Given the description of an element on the screen output the (x, y) to click on. 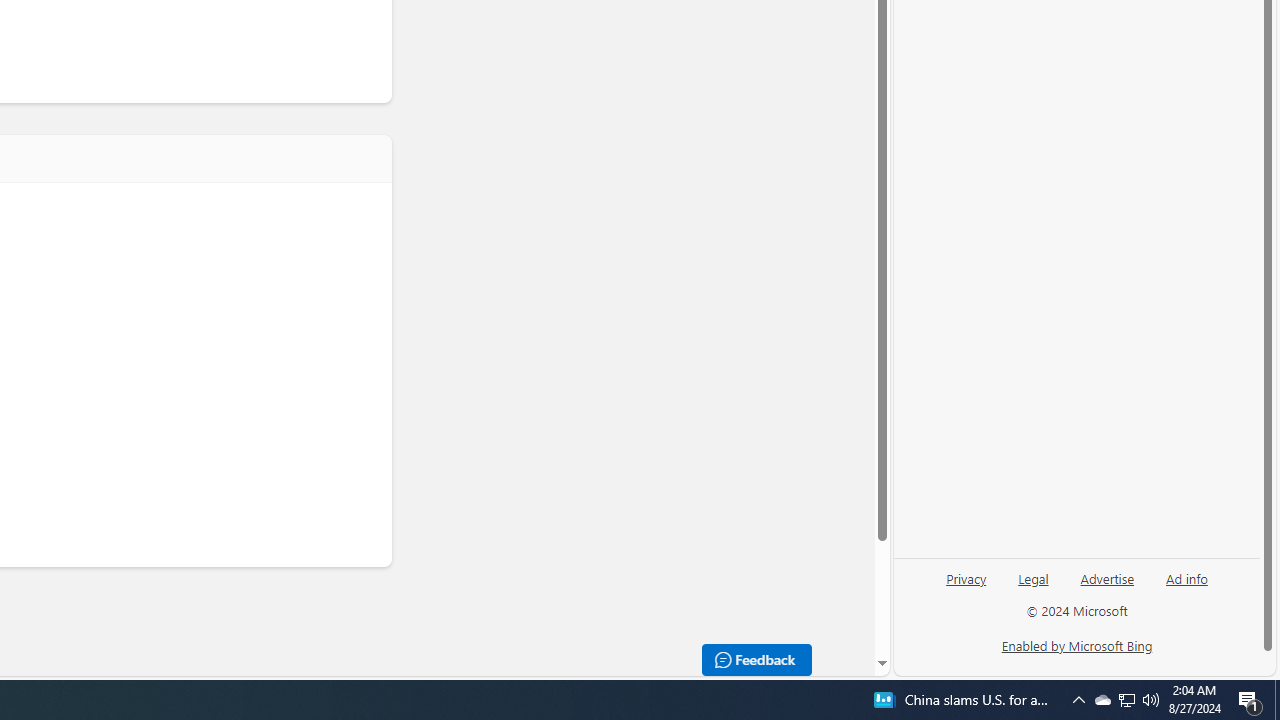
Advertise (1107, 577)
Ad info (1187, 577)
Privacy (965, 577)
Advertise (1106, 586)
Ad info (1186, 586)
Privacy (966, 586)
Legal (1033, 586)
Legal (1033, 577)
